Given the description of an element on the screen output the (x, y) to click on. 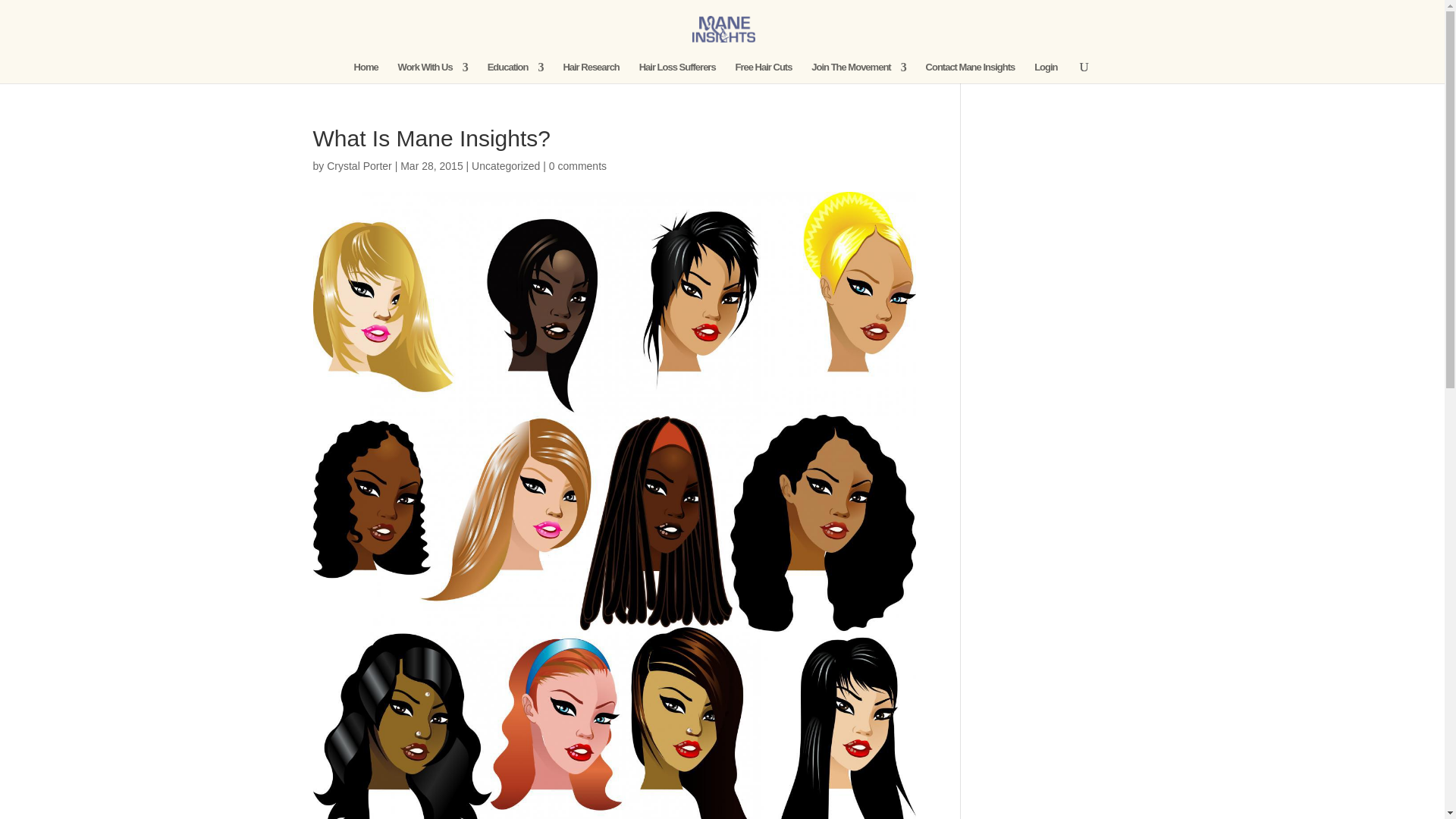
Join The Movement (857, 72)
Work With Us (432, 72)
Crystal Porter (358, 165)
Home (365, 72)
Hair Loss Sufferers (677, 72)
Login (1045, 72)
Contact Mane Insights (970, 72)
Education (515, 72)
Posts by Crystal Porter (358, 165)
Free Hair Cuts (763, 72)
Hair Research (590, 72)
0 comments (577, 165)
